Given the description of an element on the screen output the (x, y) to click on. 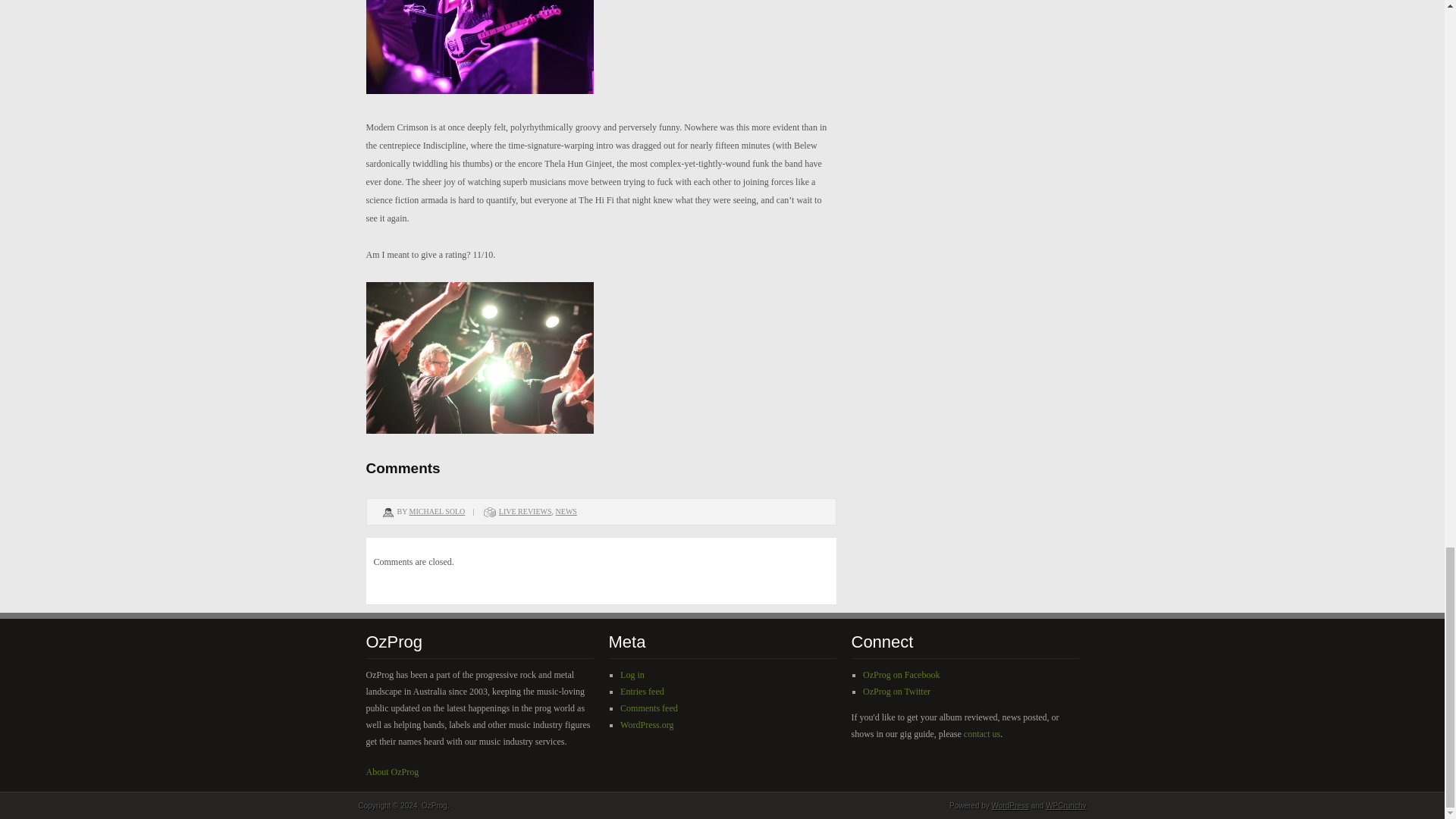
View all posts by Michael Solo (437, 510)
contact us (981, 733)
OzProg on Facebook (901, 674)
Semantic Personal Publishing Platform (1010, 805)
WordPress.org (646, 724)
MICHAEL SOLO (437, 510)
WordPress (1010, 805)
OzProg on Twitter (896, 691)
WPCrunchy (1065, 805)
Free Premium Quality Wordpress Themes (1065, 805)
About OzProg (392, 771)
LIVE REVIEWS (525, 510)
NEWS (566, 510)
Comments feed (649, 707)
Log in (632, 674)
